Given the description of an element on the screen output the (x, y) to click on. 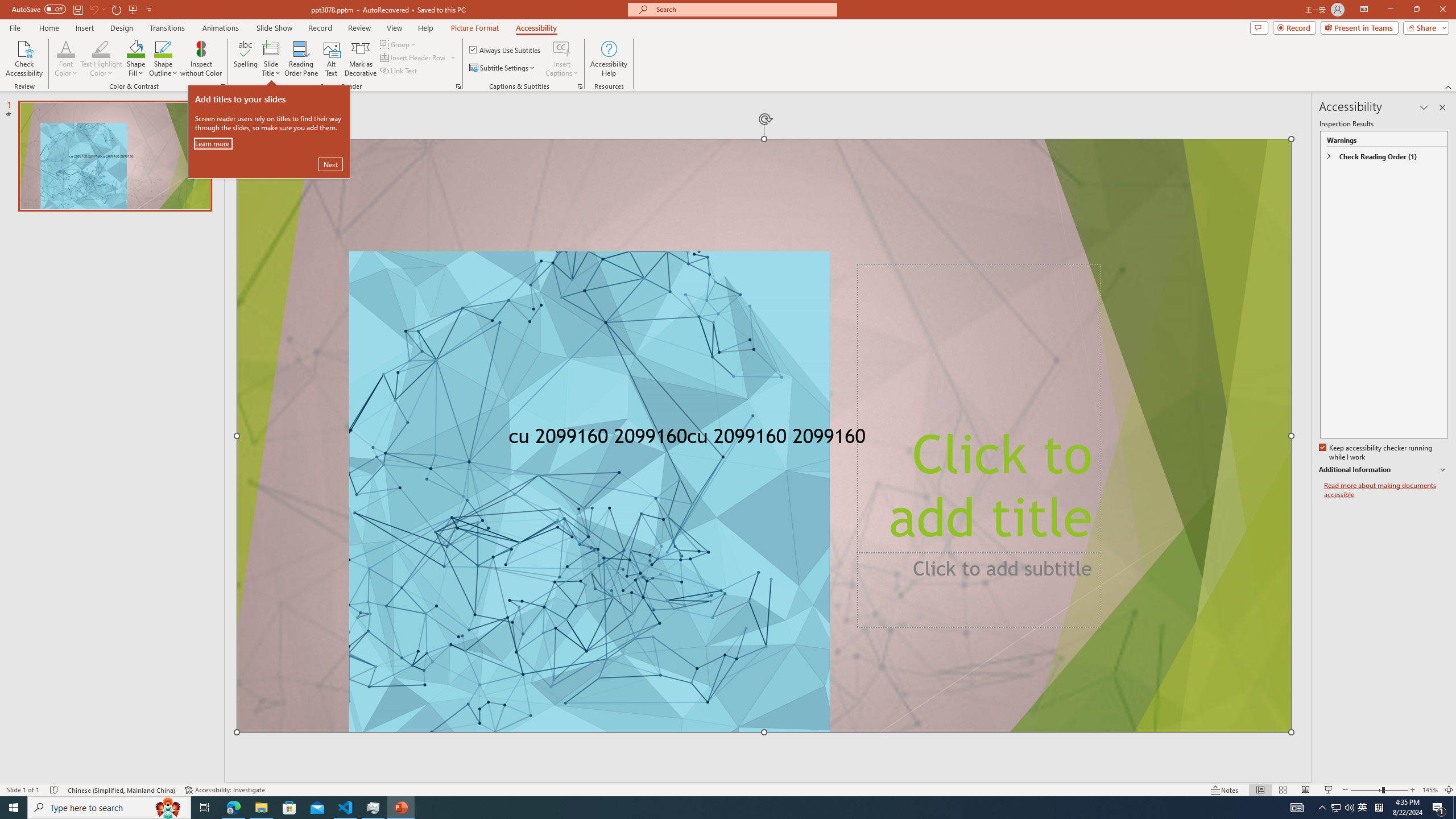
Insert Header Row (413, 56)
Picture Format (475, 28)
File Explorer - 1 running window (261, 807)
Reading Order Pane (301, 58)
